Given the description of an element on the screen output the (x, y) to click on. 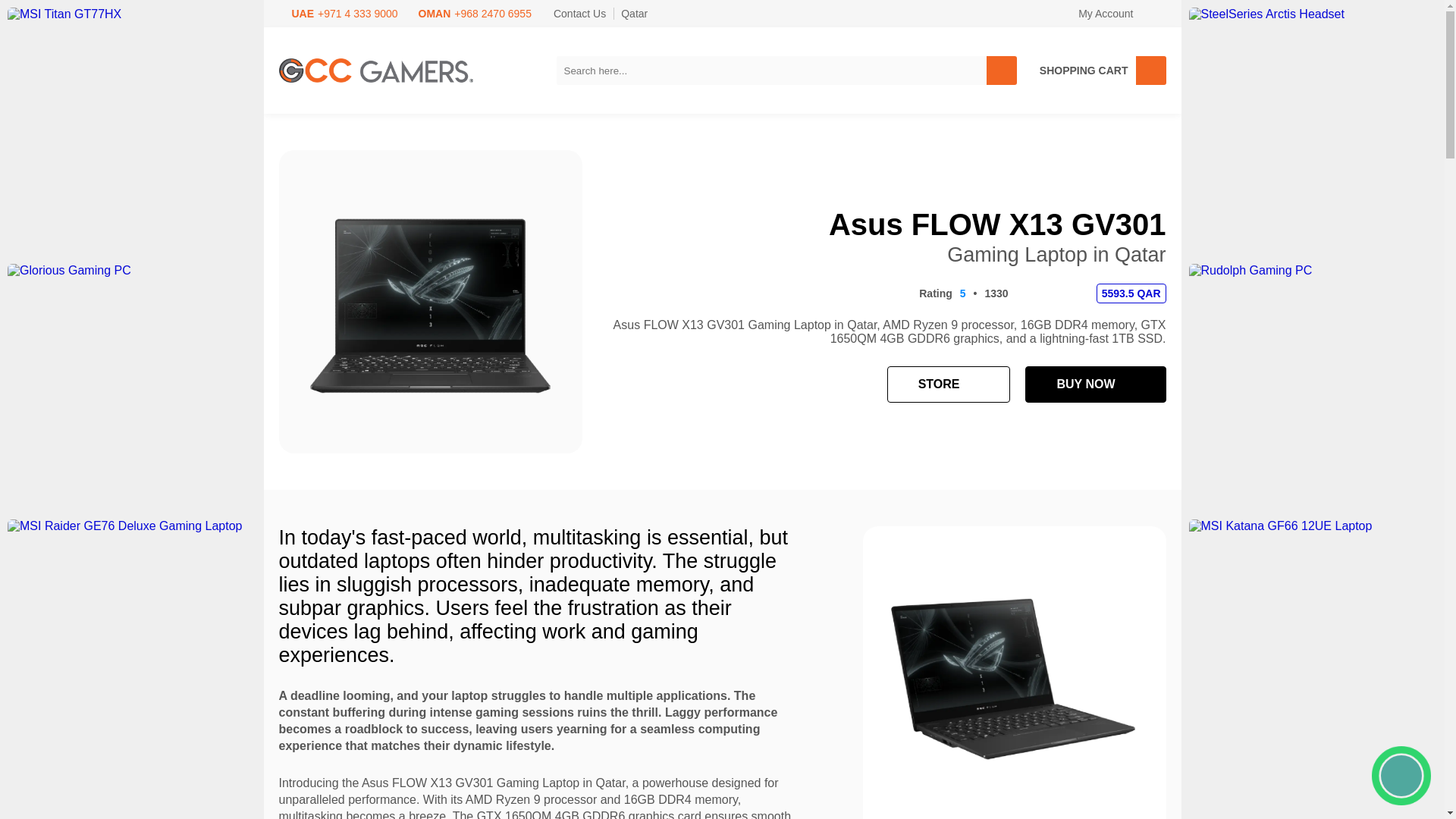
SHOPPING CART (1099, 70)
STORE (948, 383)
BUY NOW (1095, 383)
Contact Us (571, 13)
My Account (1112, 13)
